Given the description of an element on the screen output the (x, y) to click on. 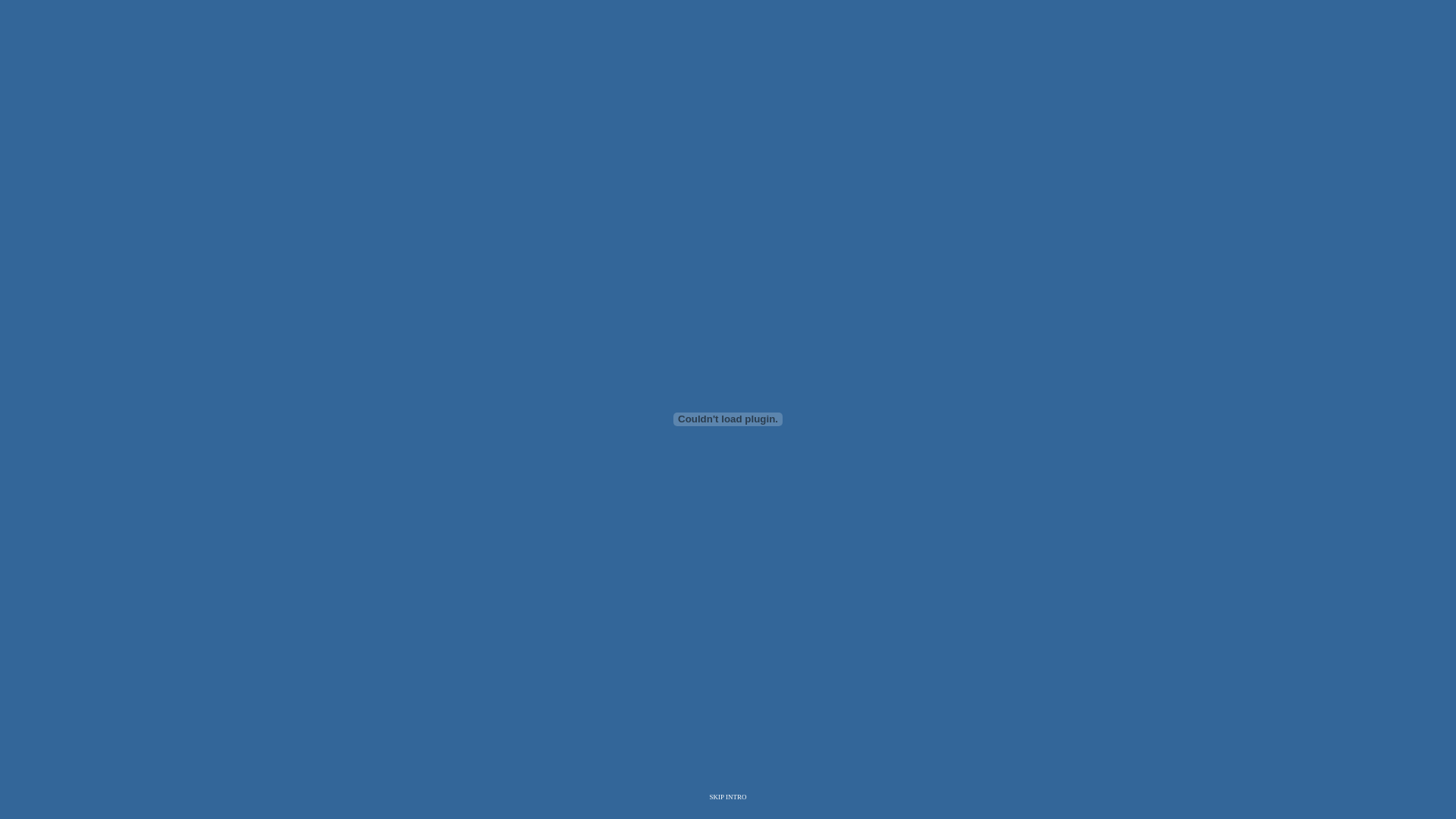
SKIP INTRO Element type: text (727, 796)
